Given the description of an element on the screen output the (x, y) to click on. 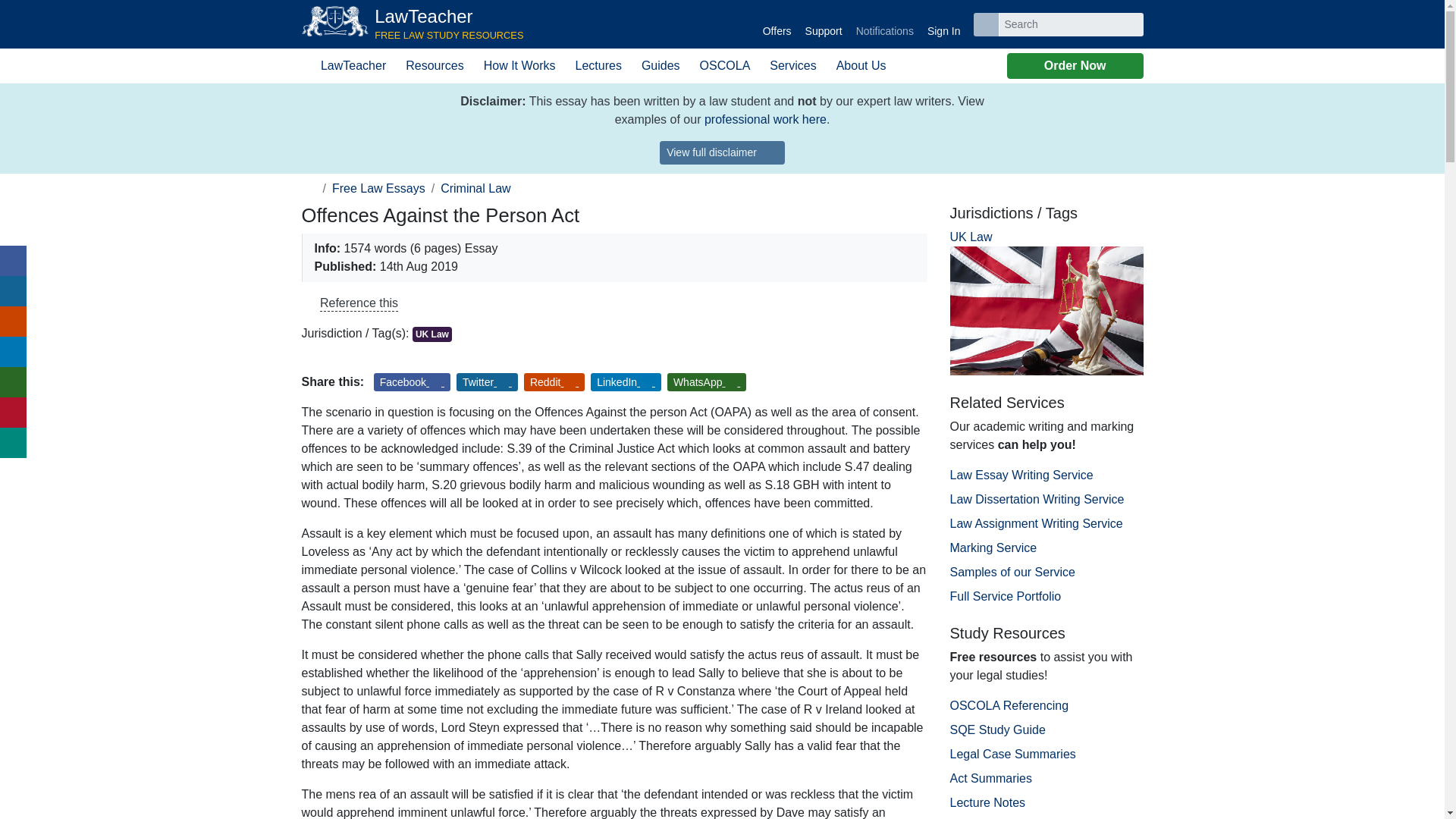
Support (822, 23)
View full disclaimer (721, 152)
samples of our writing service (765, 119)
Go to the LawTeacher homepage (412, 23)
Sign In (944, 23)
Notifications (884, 23)
homepage link (309, 187)
Offers (776, 23)
